Given the description of an element on the screen output the (x, y) to click on. 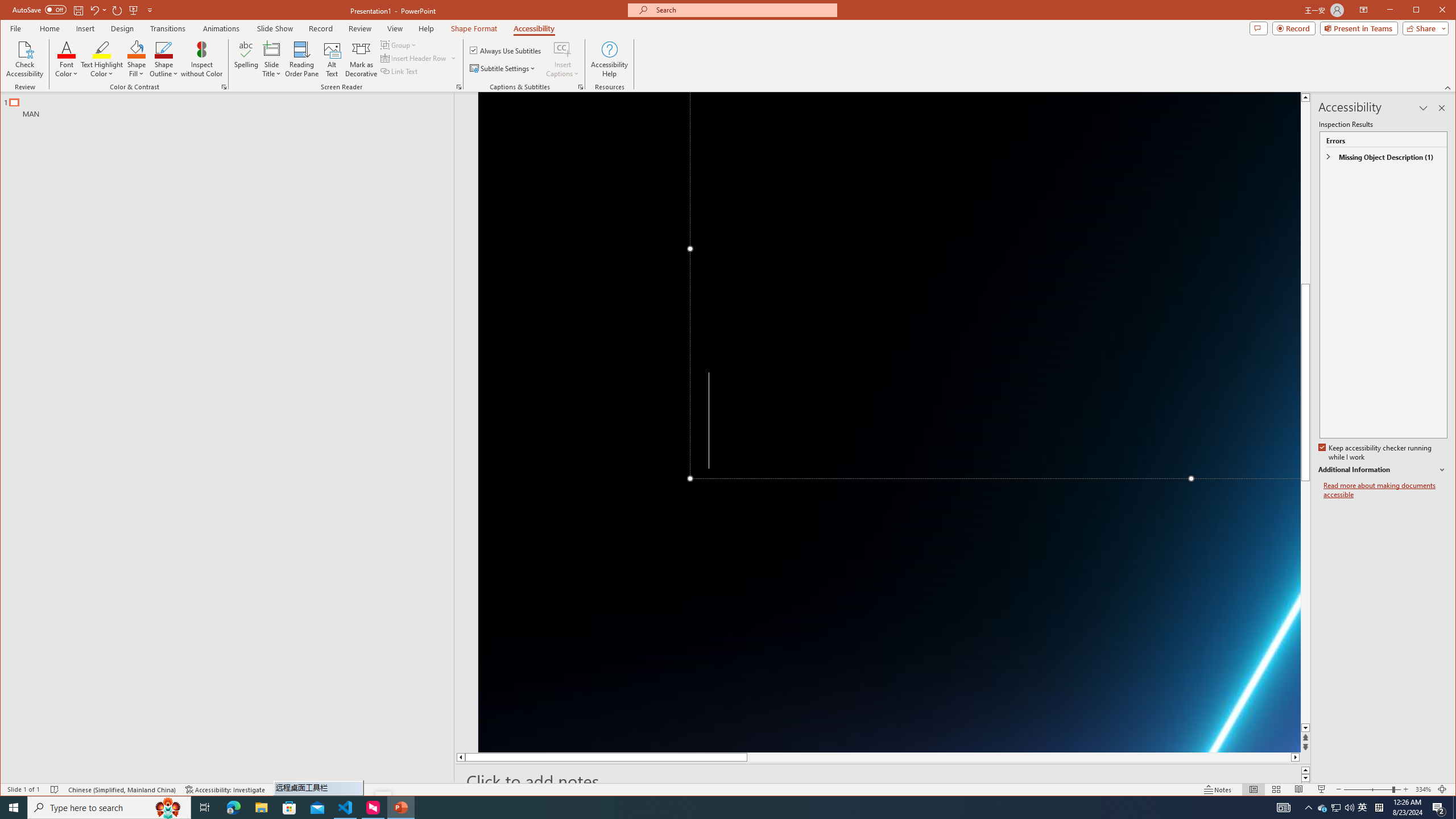
PowerPoint - 1 running window (400, 807)
Type here to search (108, 807)
Microsoft Edge (233, 807)
Insert Header Row (418, 57)
Q2790: 100% (1349, 807)
Accessibility Help (608, 59)
Always Use Subtitles (505, 49)
